Given the description of an element on the screen output the (x, y) to click on. 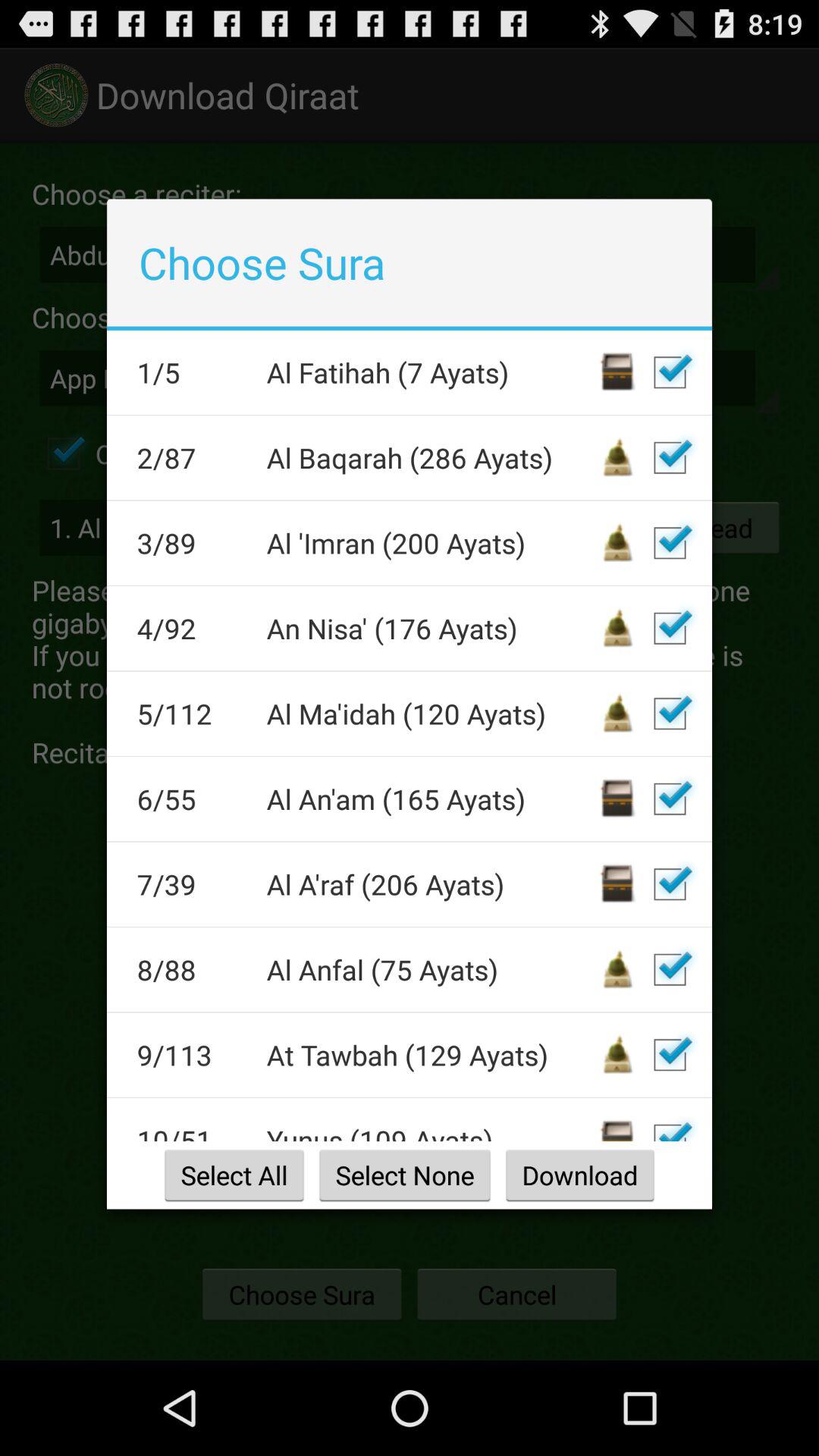
turn off the item next to 3/89 app (430, 542)
